Given the description of an element on the screen output the (x, y) to click on. 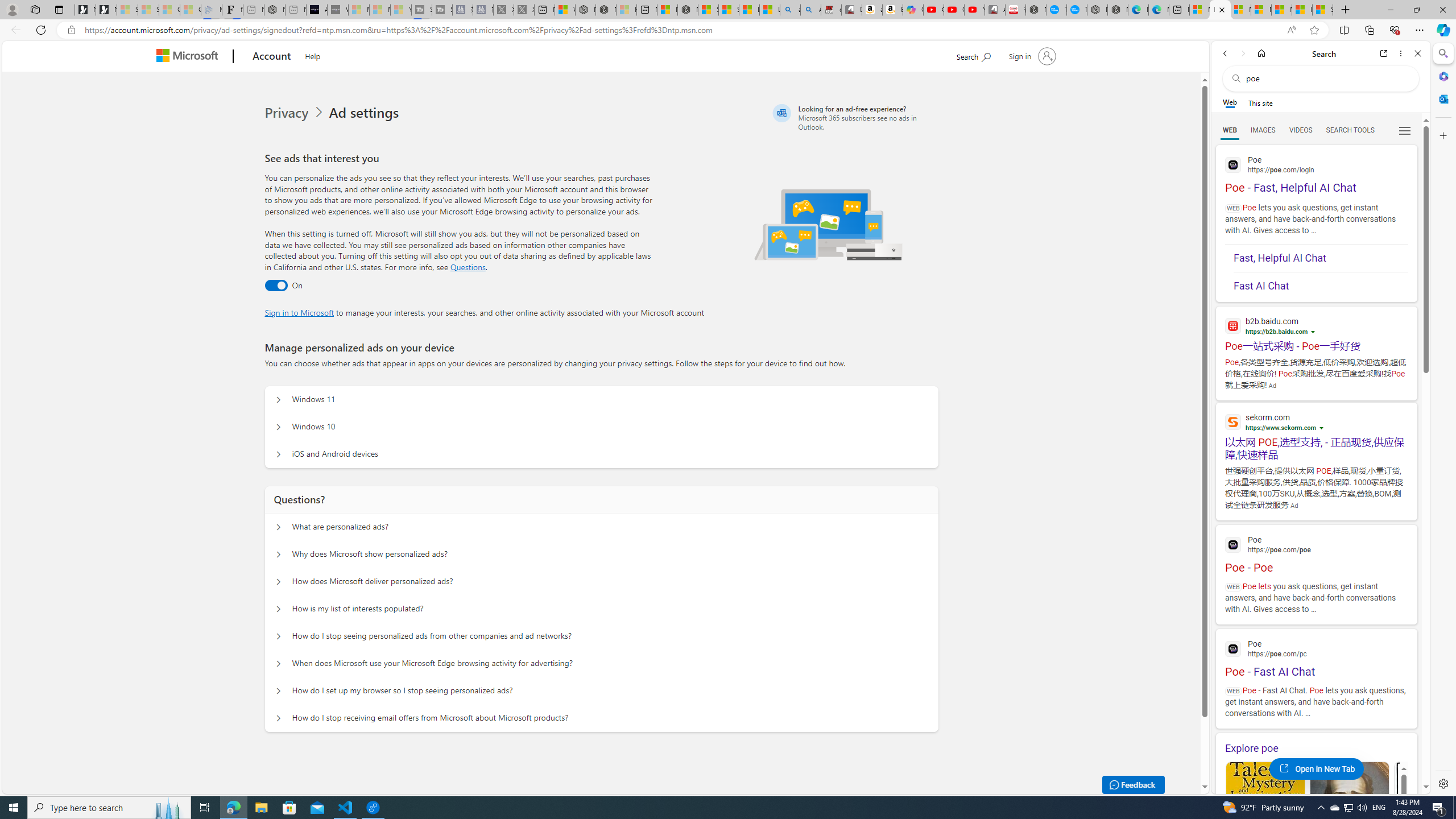
Web scope (1230, 102)
Gloom - YouTube (954, 9)
Poe (1315, 647)
Questions? How does Microsoft deliver personalized ads? (278, 581)
Privacy (287, 112)
Nordace - Nordace Siena Is Not An Ordinary Backpack (687, 9)
Side bar (1443, 418)
